Given the description of an element on the screen output the (x, y) to click on. 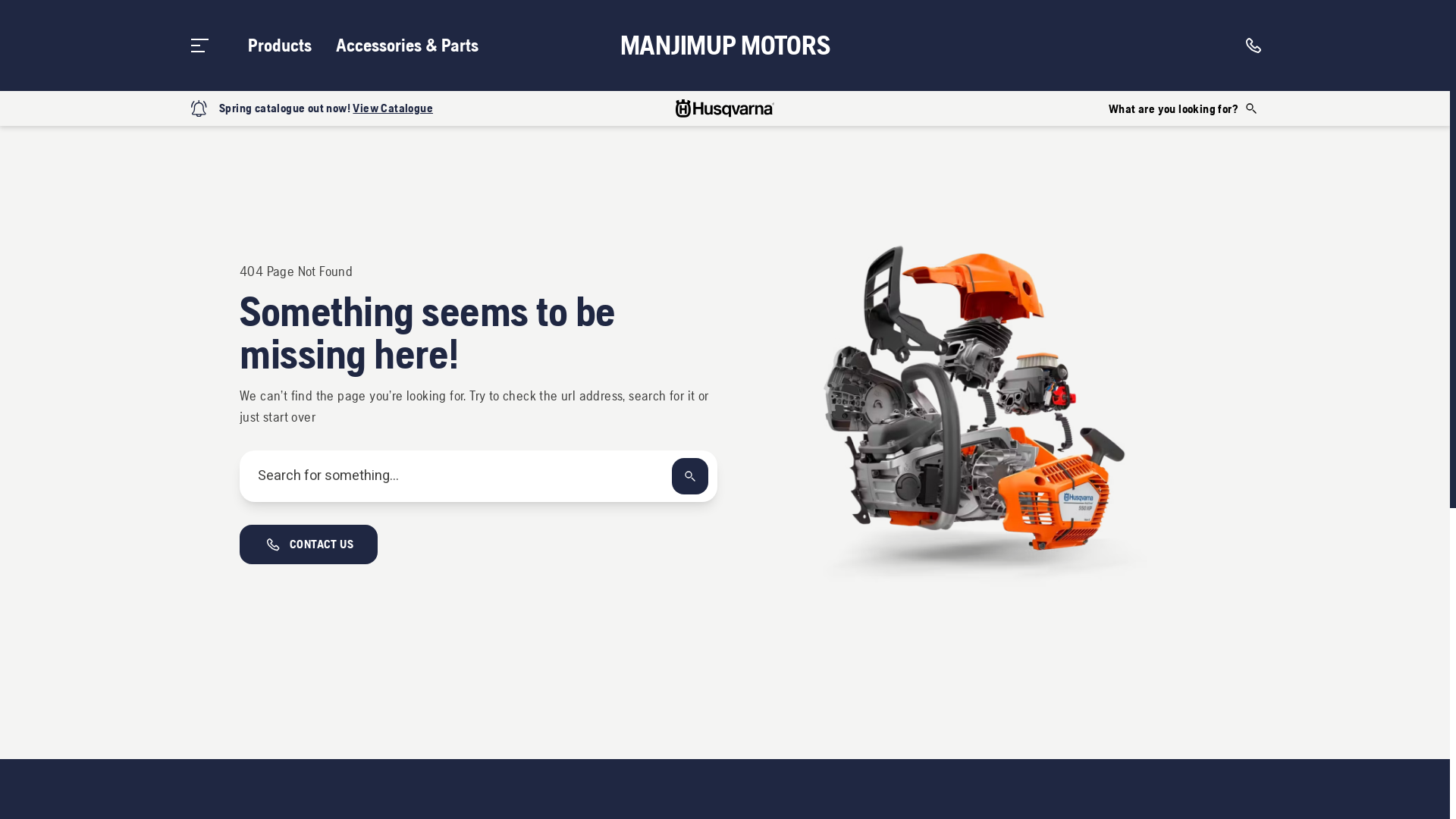
Products Element type: text (279, 45)
MANJIMUP MOTORS Element type: text (725, 45)
What are you looking for? Element type: text (1183, 108)
SEARCH Element type: text (689, 476)
Accessories & Parts Element type: text (406, 45)
CONTACT US Element type: text (308, 544)
View Catalogue Element type: text (392, 107)
